Given the description of an element on the screen output the (x, y) to click on. 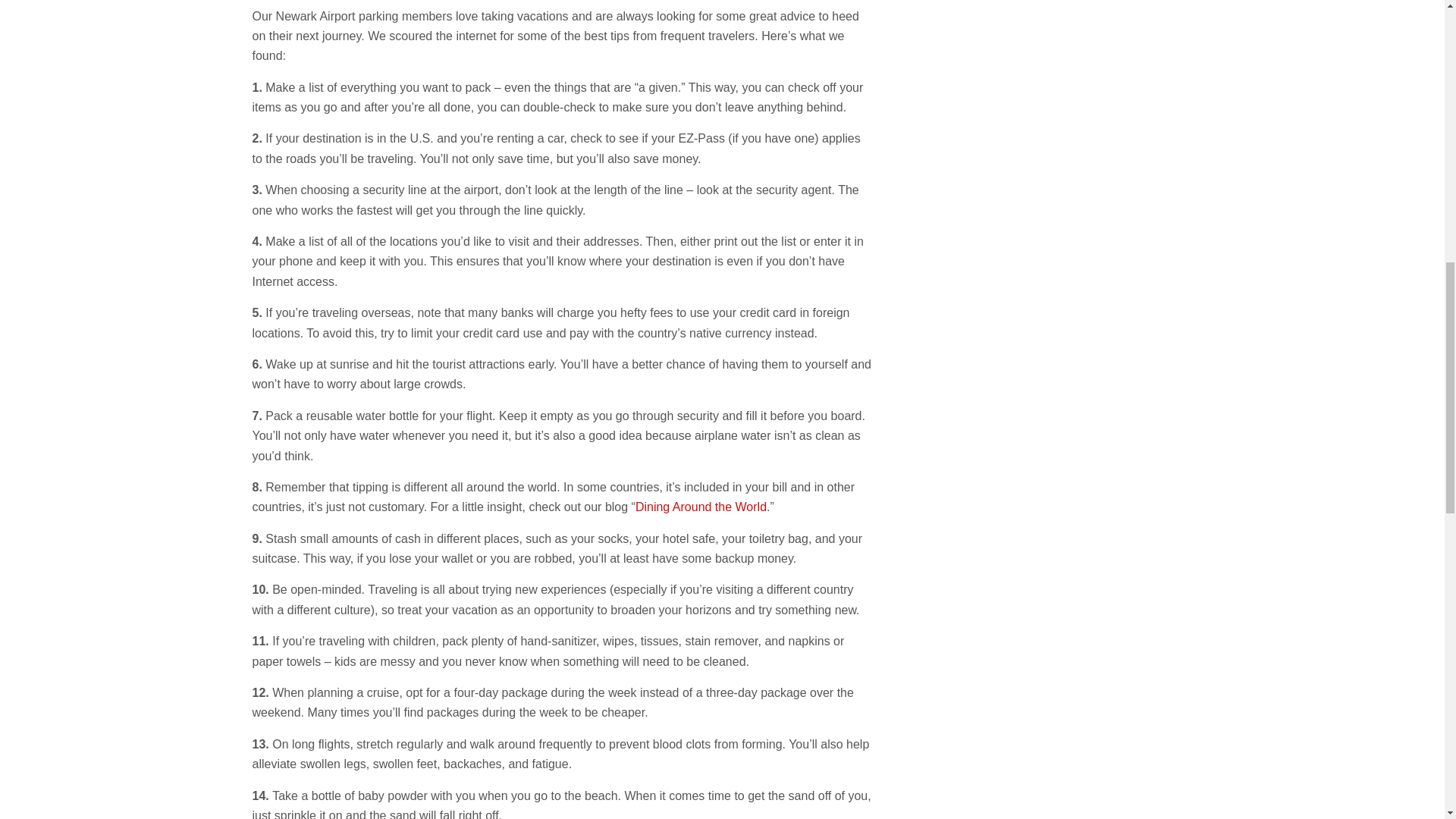
Dining Around the World (700, 506)
